Given the description of an element on the screen output the (x, y) to click on. 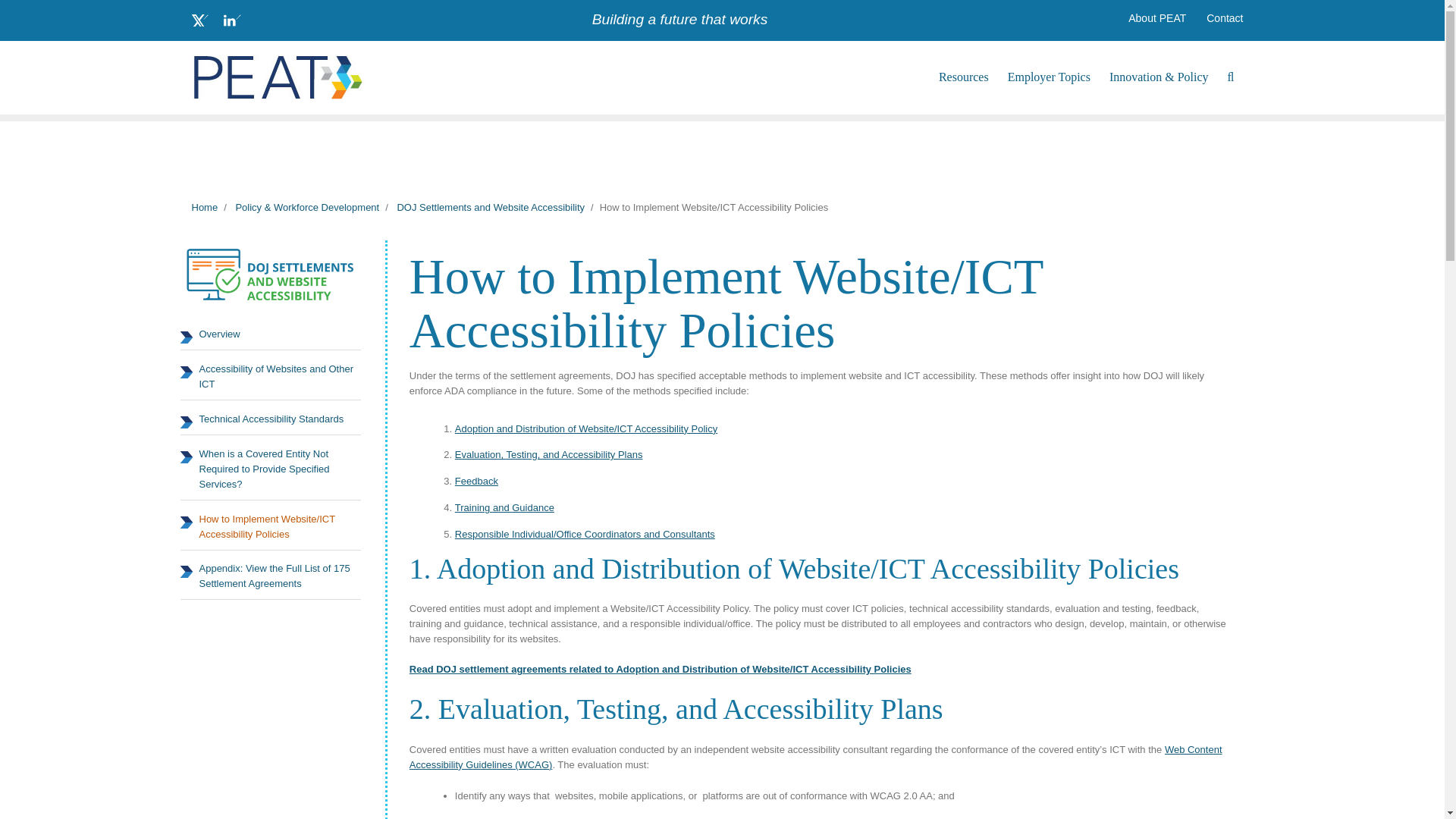
Employer Topics (1048, 76)
LinkedIn logo (232, 20)
Evaluation, Testing, and Accessibility Plans (548, 454)
About PEAT (1156, 18)
Appendix: View the Full List of 175 Settlement Agreements (270, 576)
Twitter Logo (199, 20)
Contact (1224, 18)
Accessibility of Websites and Other ICT (270, 376)
Home (203, 206)
Twitter Logo (199, 20)
